Given the description of an element on the screen output the (x, y) to click on. 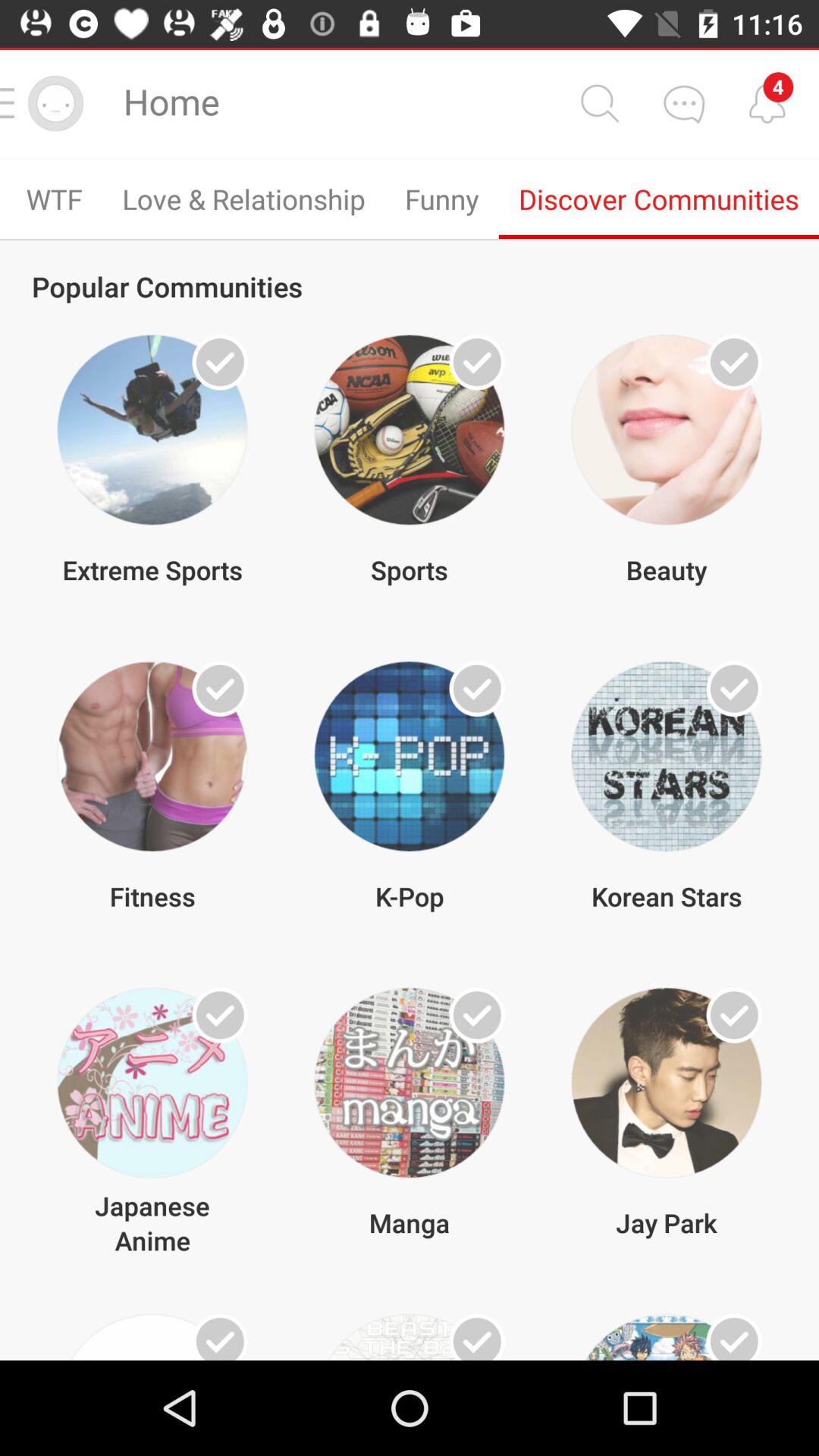
select communitie (219, 1336)
